Given the description of an element on the screen output the (x, y) to click on. 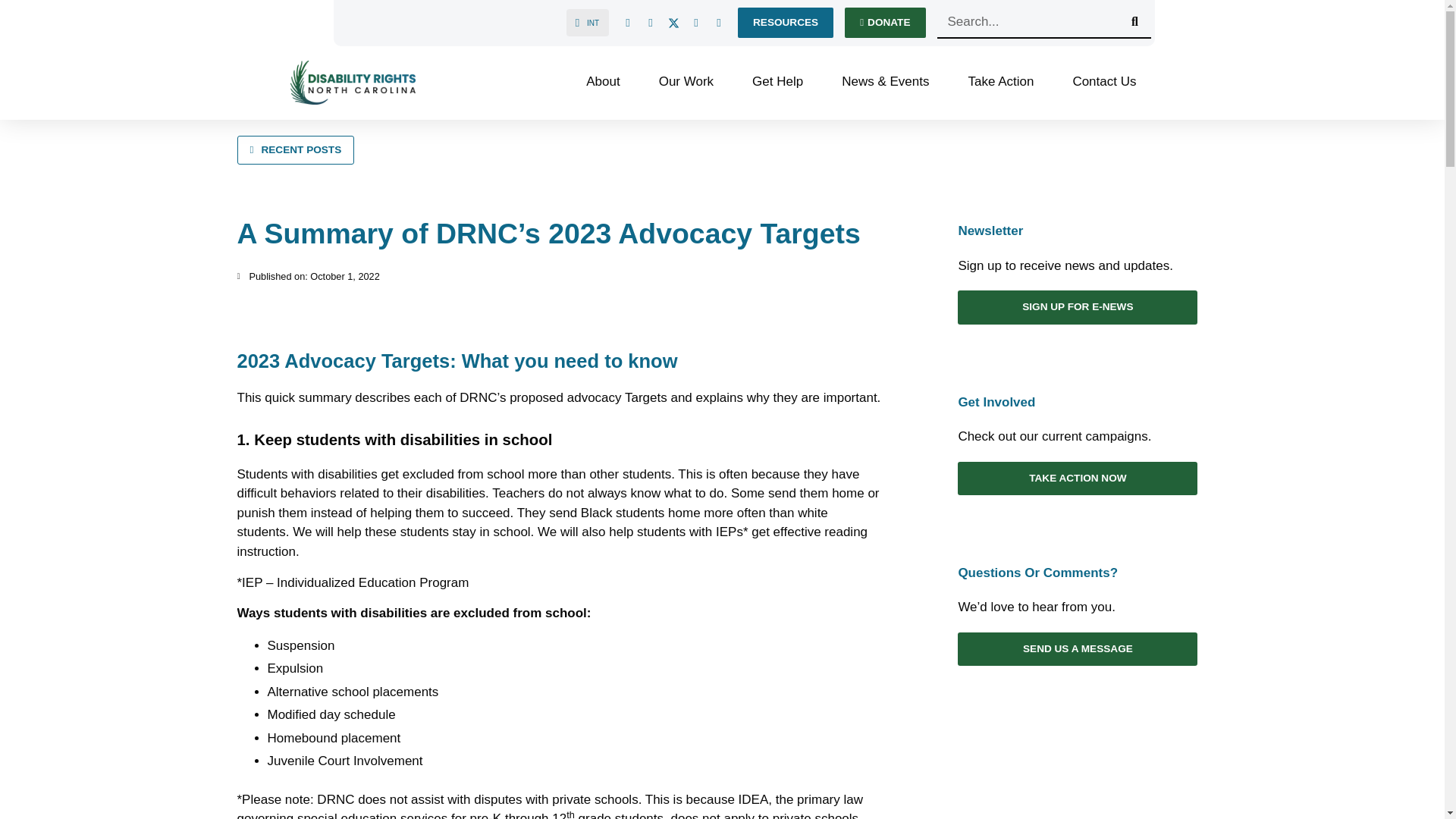
DONATE (884, 22)
RESOURCES (785, 22)
Our Work (692, 81)
INT (585, 20)
Get Help (783, 81)
About (609, 81)
